Given the description of an element on the screen output the (x, y) to click on. 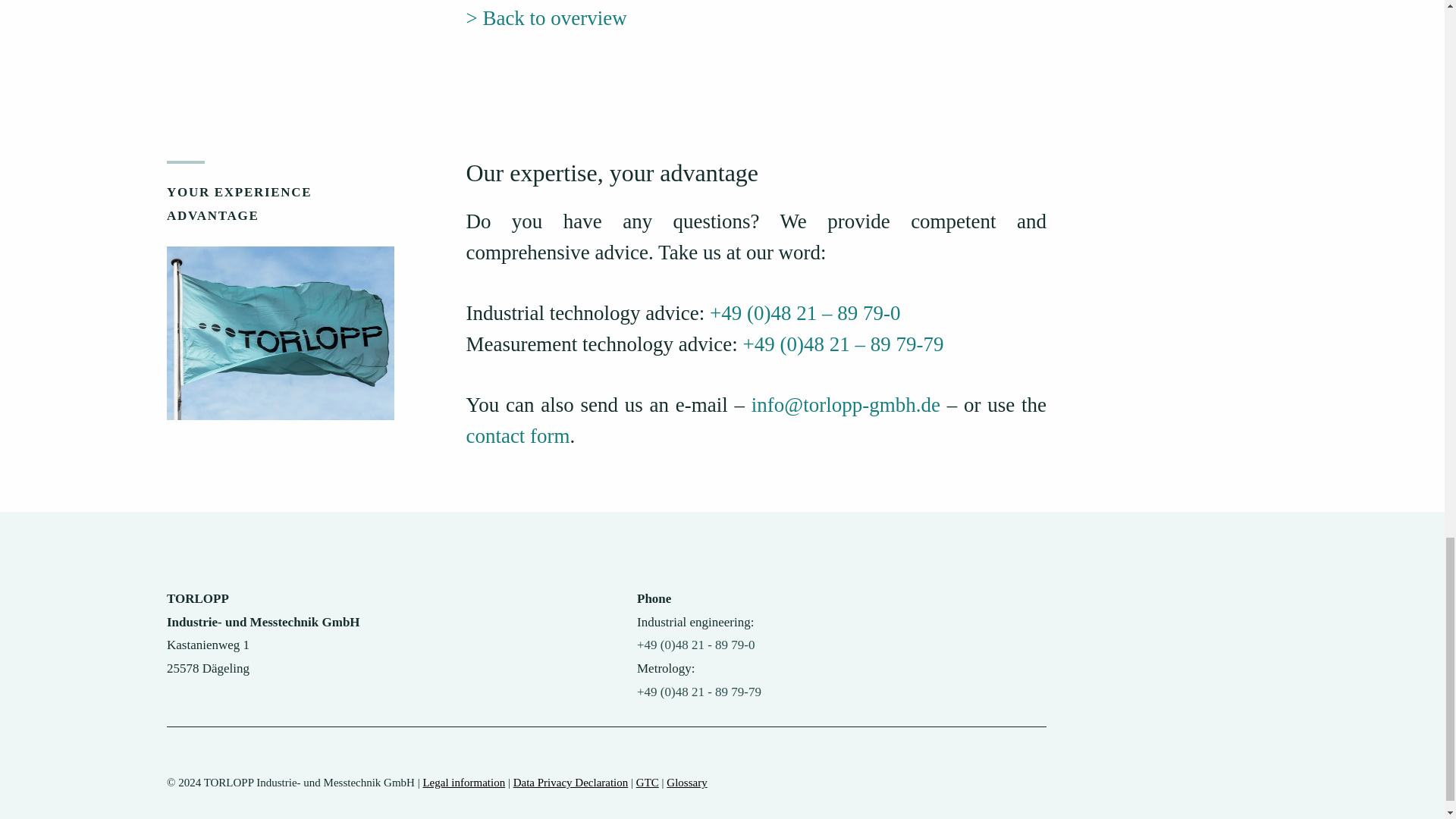
torlopp-gmbh (280, 333)
